Given the description of an element on the screen output the (x, y) to click on. 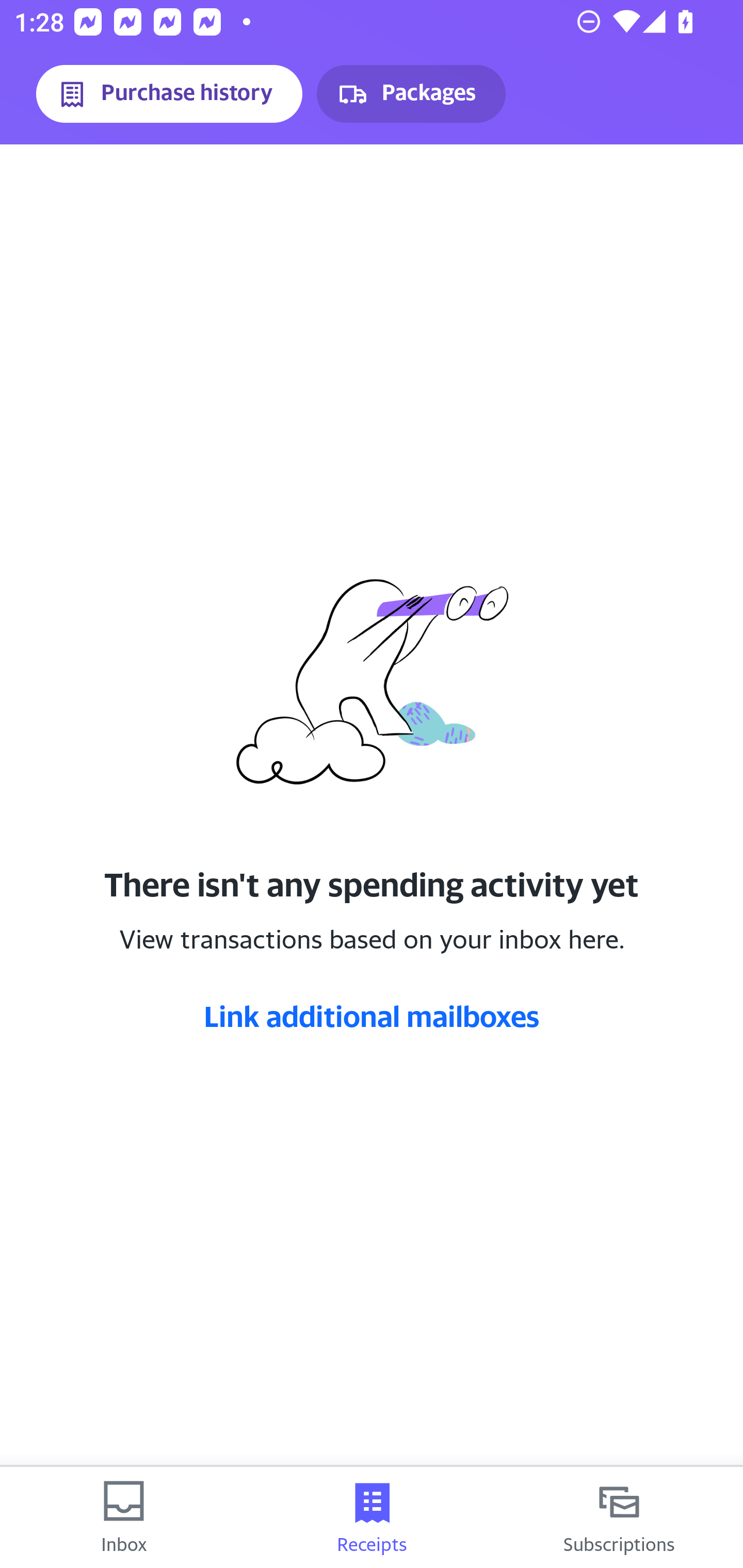
Packages (410, 93)
Link additional mailboxes (371, 1015)
Inbox (123, 1517)
Receipts (371, 1517)
Subscriptions (619, 1517)
